Given the description of an element on the screen output the (x, y) to click on. 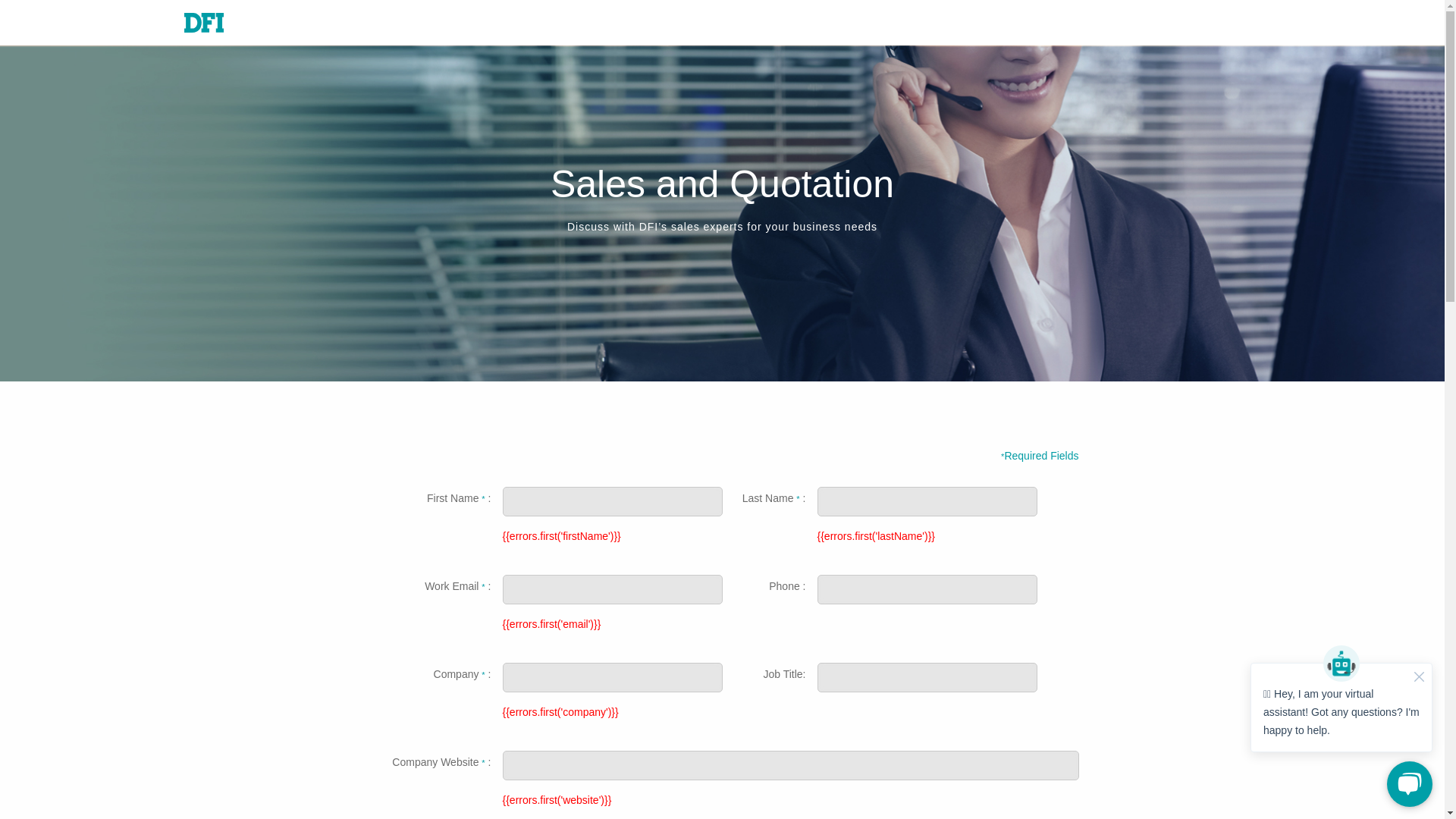
South (663, 22)
South (901, 23)
South (922, 23)
South (943, 23)
South (878, 23)
South (770, 22)
